Given the description of an element on the screen output the (x, y) to click on. 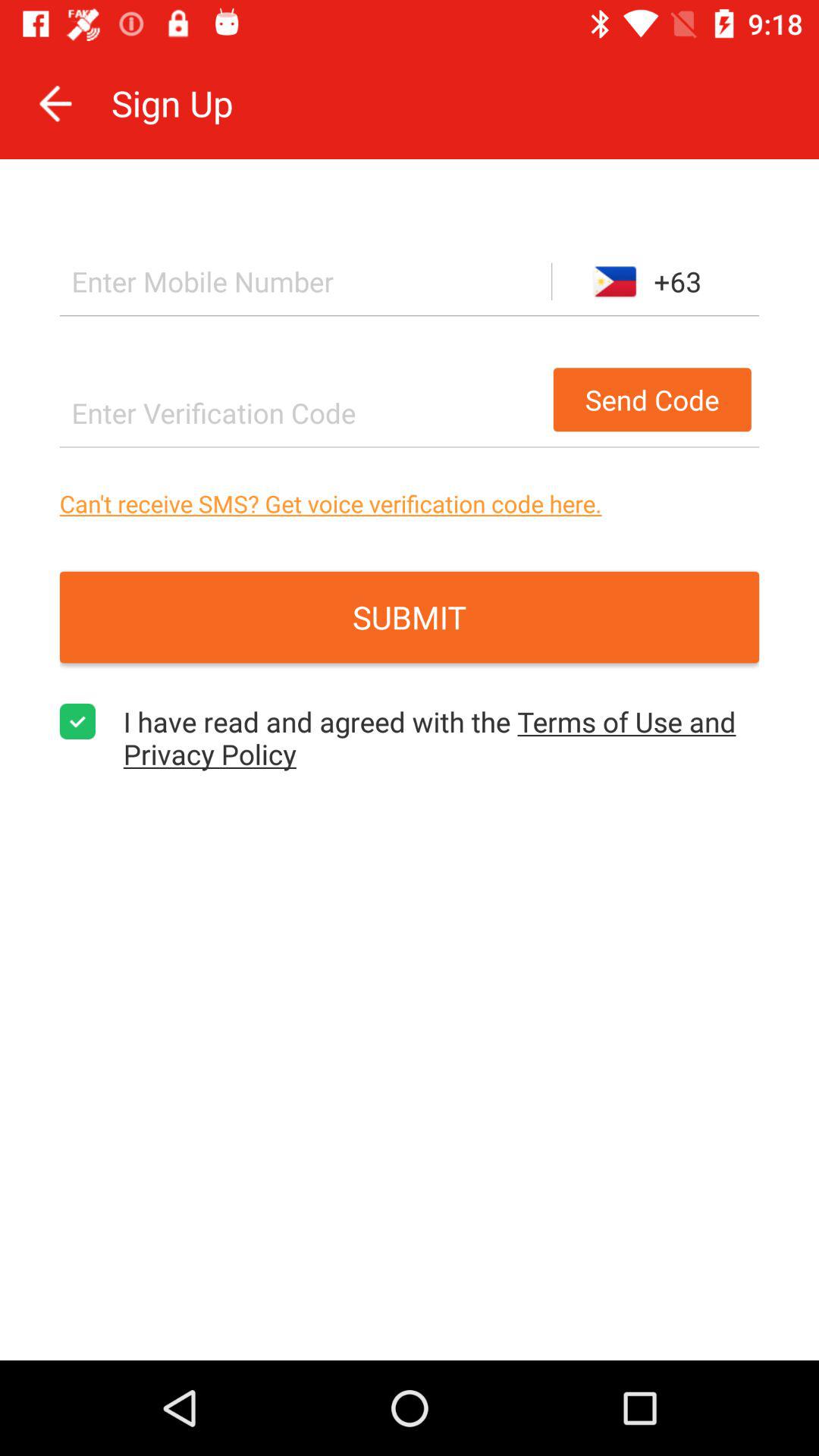
verification code (302, 412)
